Given the description of an element on the screen output the (x, y) to click on. 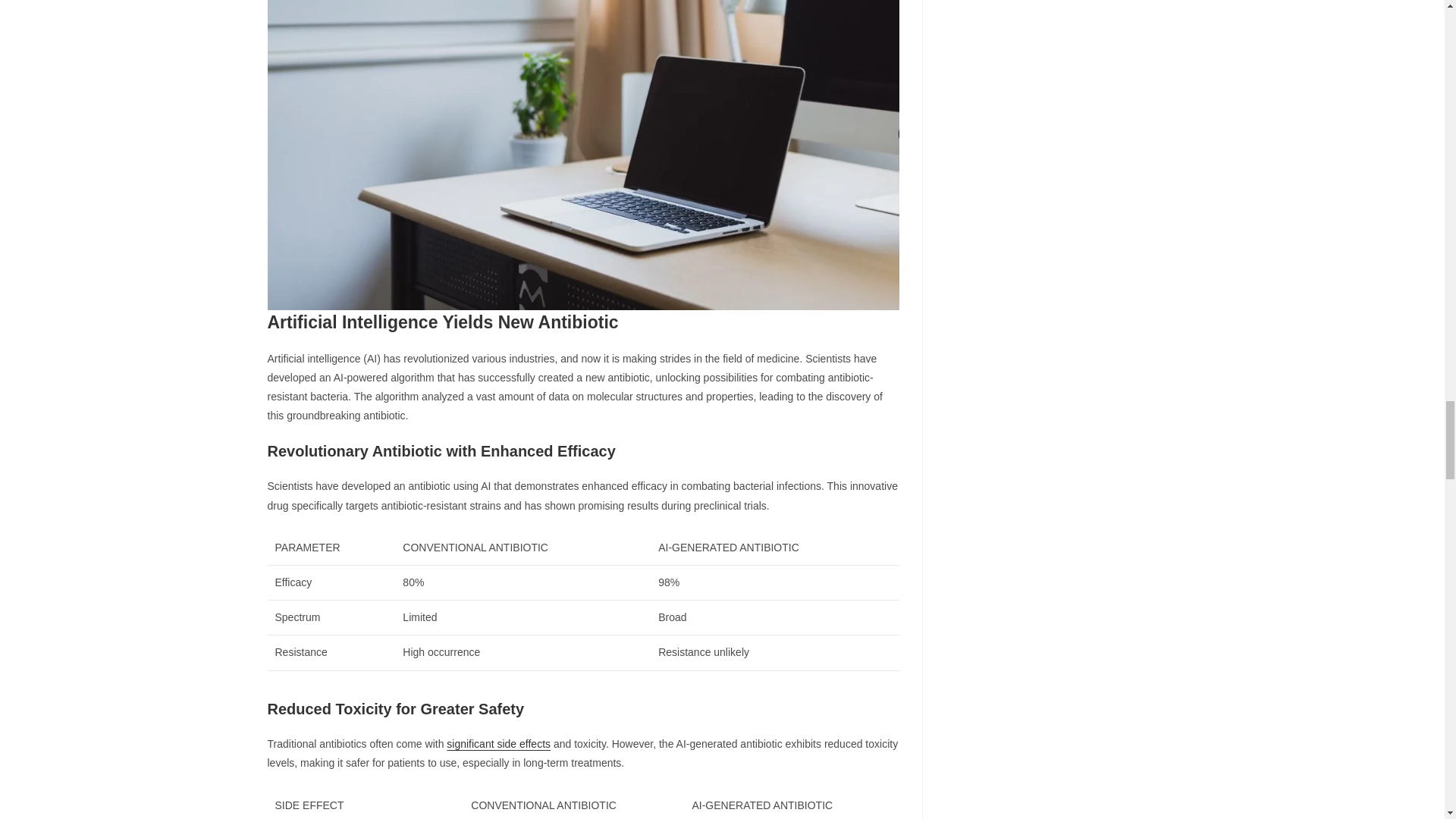
significant side effects (498, 743)
